Given the description of an element on the screen output the (x, y) to click on. 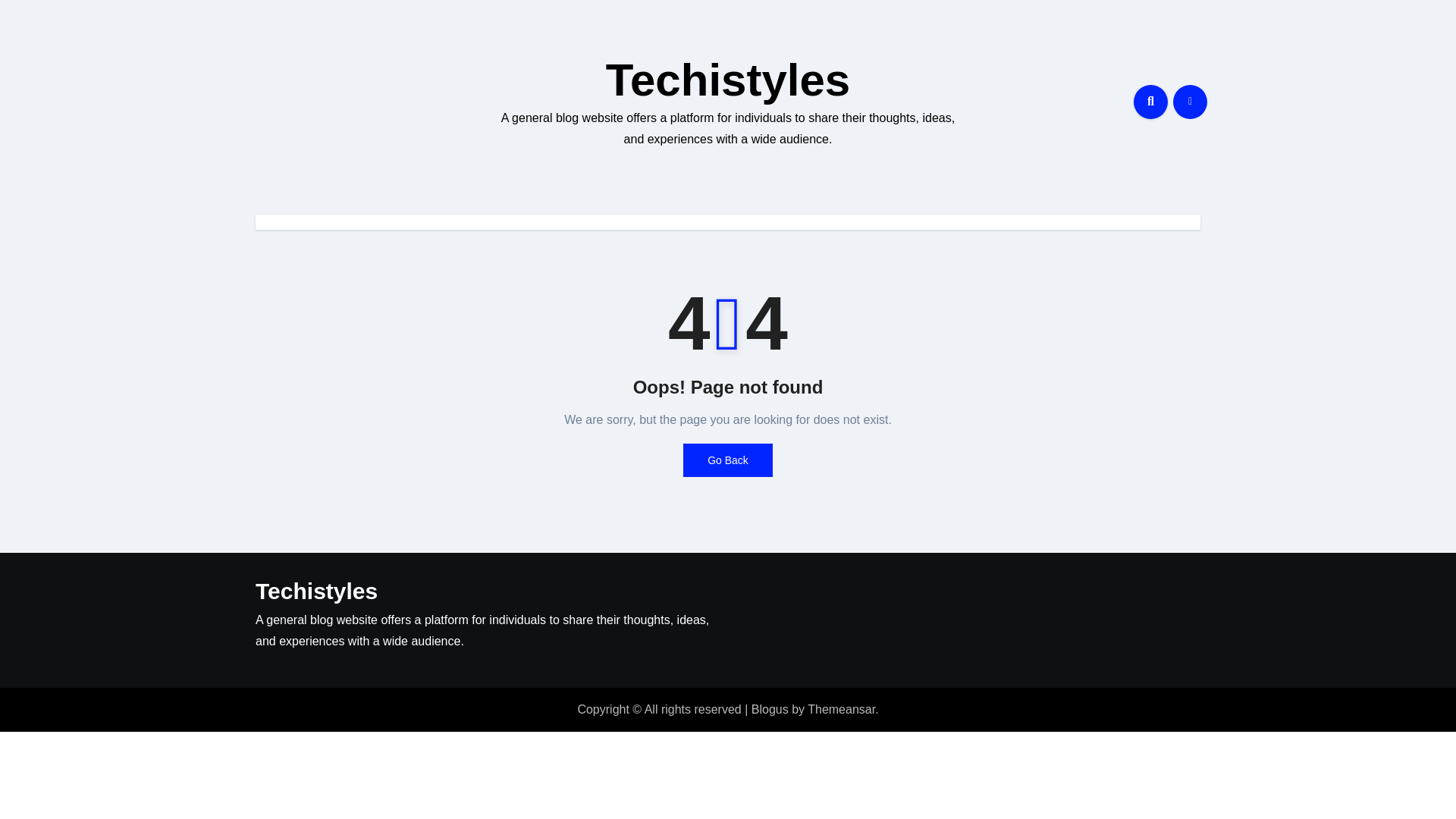
Blogus (770, 708)
Go Back (727, 459)
Themeansar (841, 708)
Techistyles (727, 79)
Techistyles (316, 590)
